Given the description of an element on the screen output the (x, y) to click on. 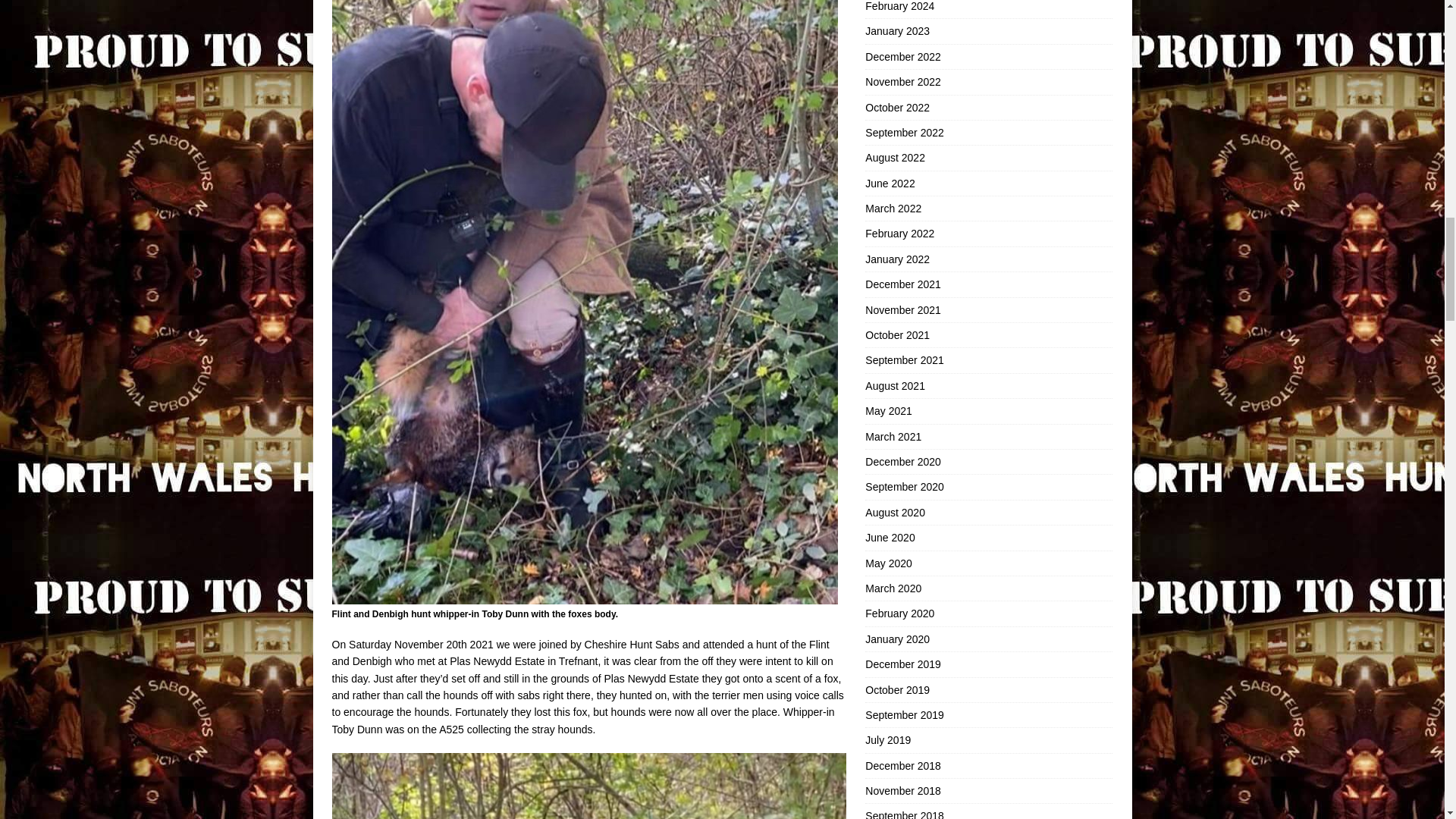
June 2022 (988, 183)
January 2023 (988, 30)
November 2022 (988, 81)
December 2022 (988, 56)
February 2024 (988, 9)
September 2022 (988, 132)
August 2022 (988, 157)
October 2022 (988, 107)
